Given the description of an element on the screen output the (x, y) to click on. 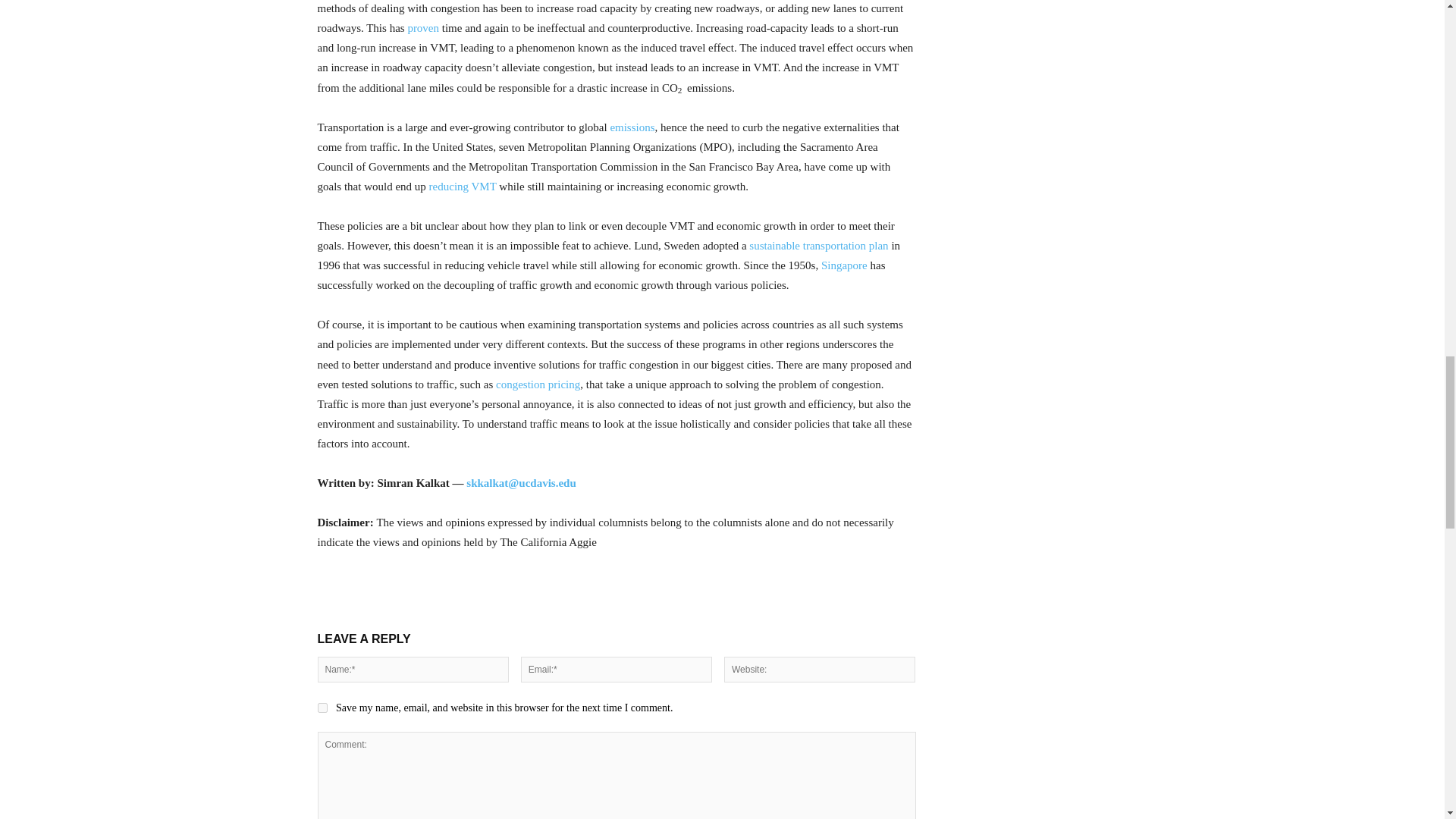
yes (321, 707)
